Given the description of an element on the screen output the (x, y) to click on. 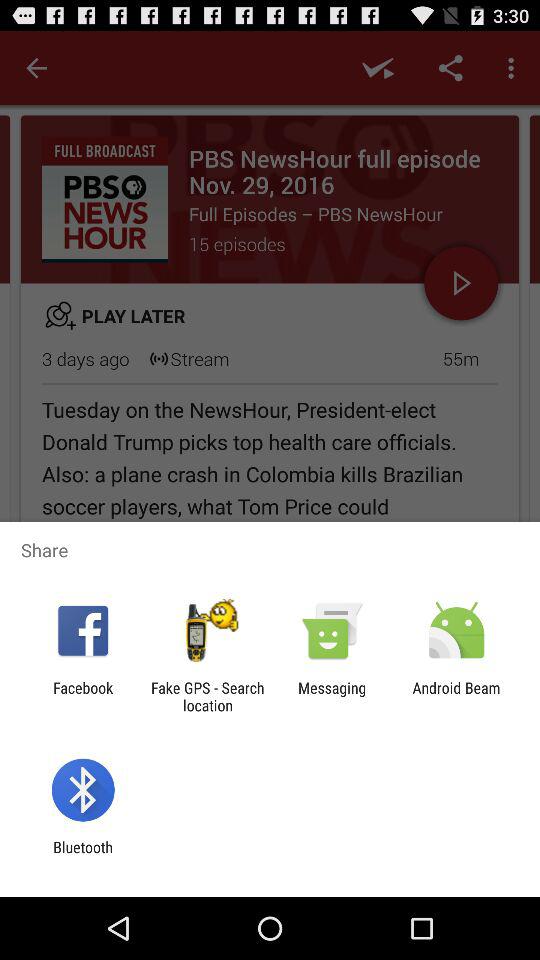
launch the icon next to fake gps search icon (83, 696)
